Given the description of an element on the screen output the (x, y) to click on. 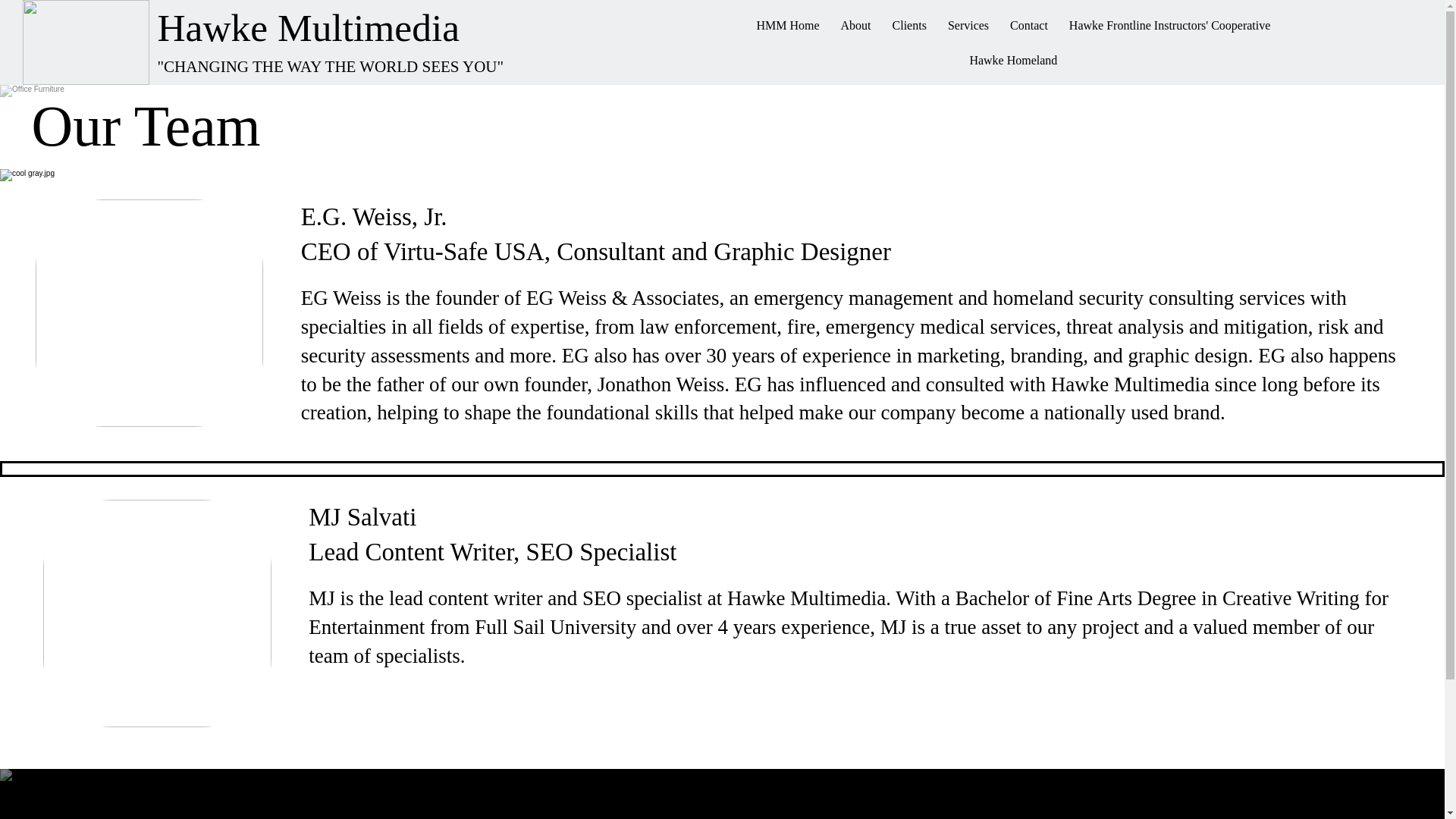
About (855, 25)
Contact (1029, 25)
Hawke Frontline Instructors' Cooperative (1169, 25)
Clients (909, 25)
Hawke Homeland (1012, 60)
HMM Home (787, 25)
